Given the description of an element on the screen output the (x, y) to click on. 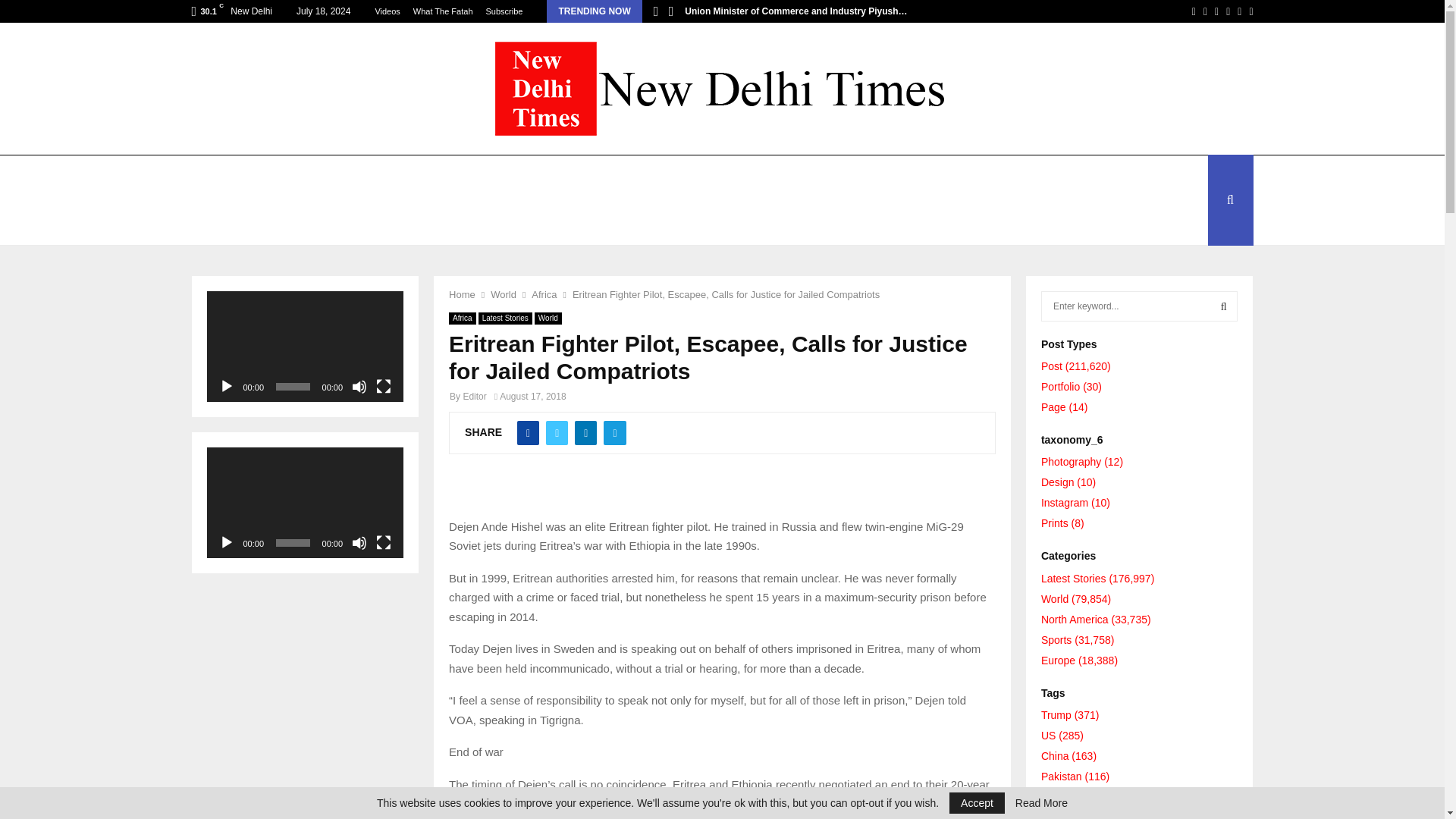
Videos (386, 11)
What The Fatah (443, 11)
WORLD (354, 176)
LATEST STORIES (252, 176)
Subscribe (503, 11)
